Given the description of an element on the screen output the (x, y) to click on. 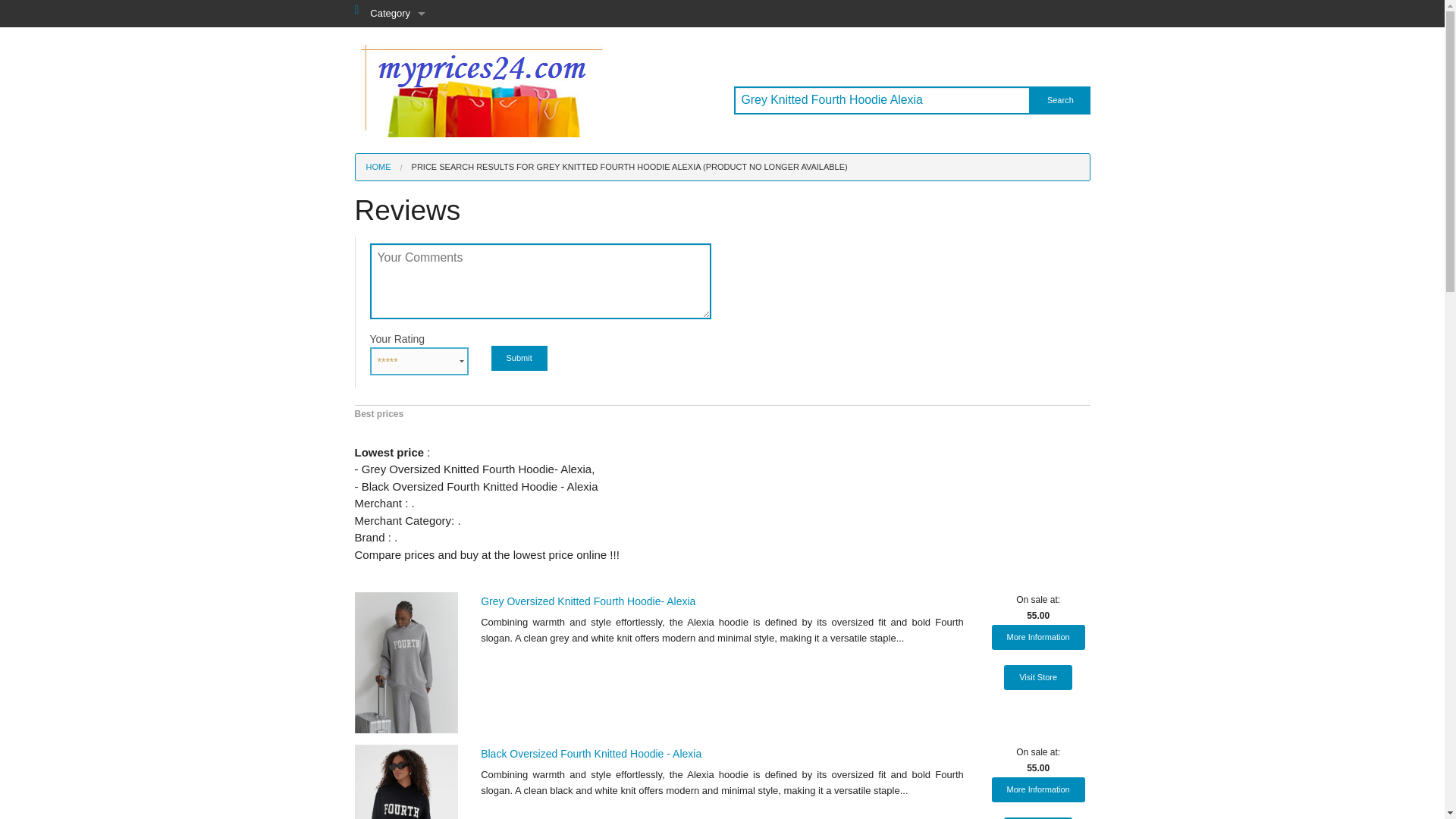
Grey Knitted Fourth Hoodie Alexia (881, 100)
Visit Store (1037, 818)
Submit (519, 358)
Visit Store (1037, 677)
More Information (1037, 789)
Category (397, 13)
myprices24 (481, 88)
More Information (1037, 637)
myprices24 (481, 90)
Search (1059, 100)
